Given the description of an element on the screen output the (x, y) to click on. 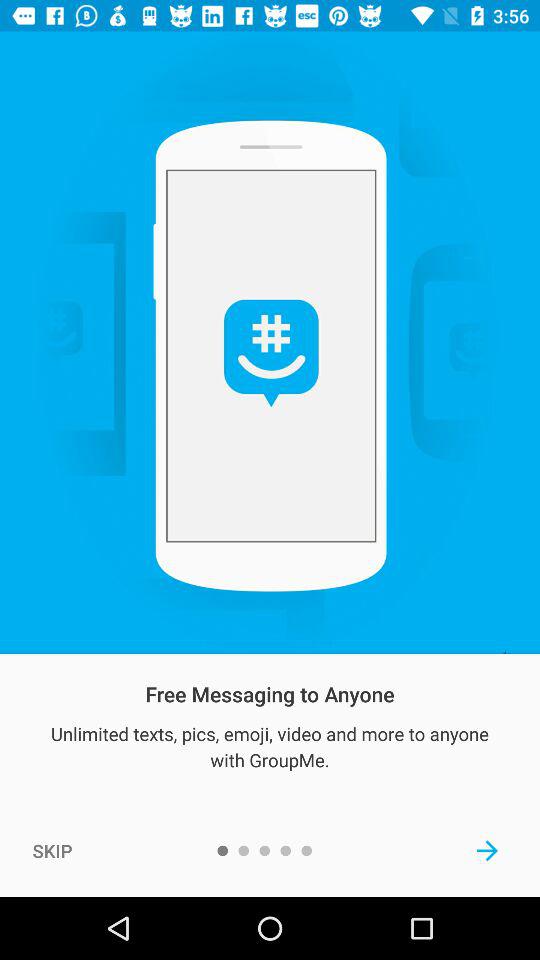
next page (487, 850)
